Given the description of an element on the screen output the (x, y) to click on. 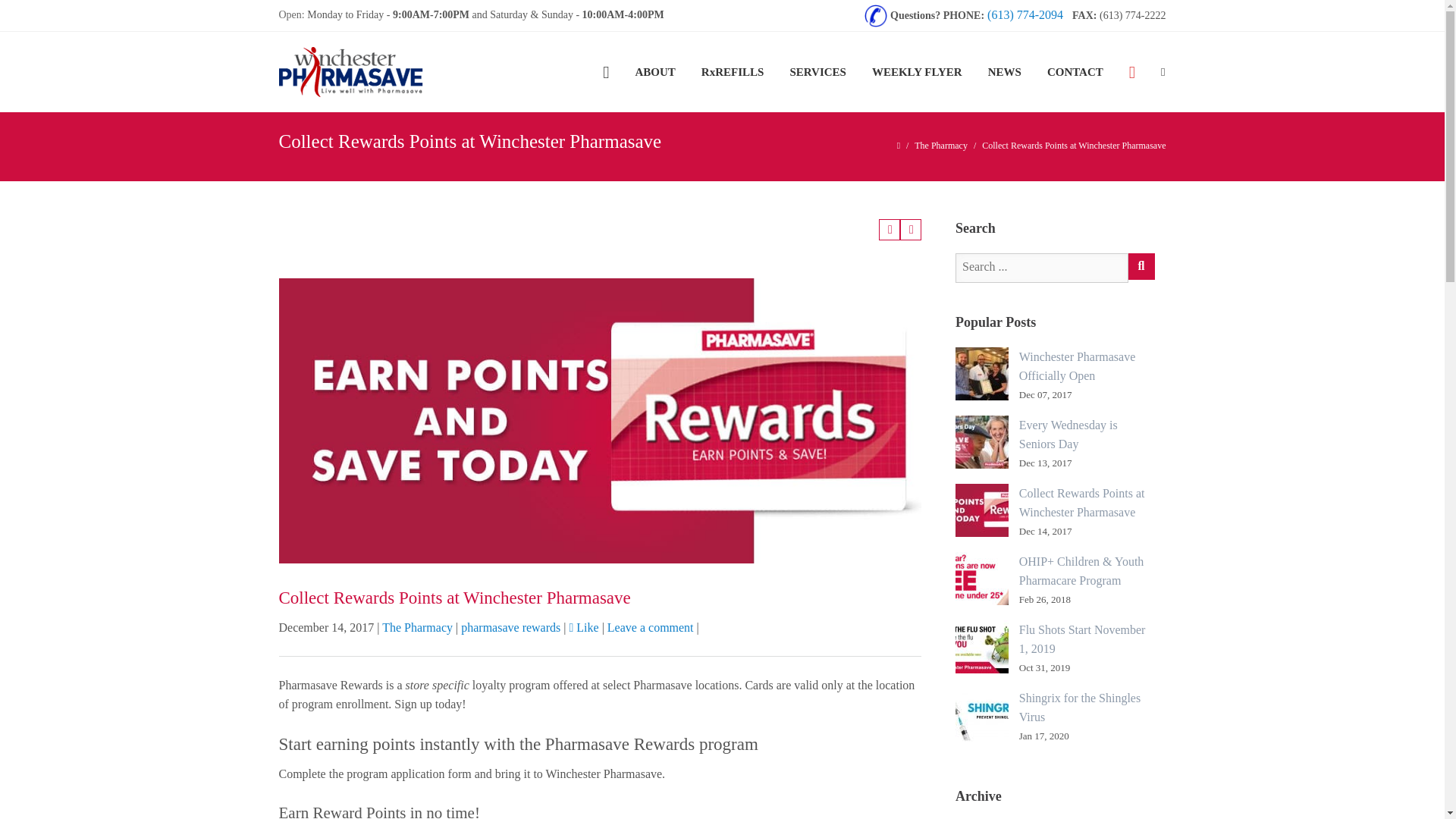
Like (583, 626)
WEEKLY FLYER (917, 71)
The Pharmacy (941, 145)
SERVICES (817, 71)
CONTACT (1075, 71)
pharmasave rewards (510, 626)
The Pharmacy (941, 145)
Winchester Pharmasave (427, 71)
Pharmacy Services (817, 71)
pharmasave weekly flyer (917, 71)
